Given the description of an element on the screen output the (x, y) to click on. 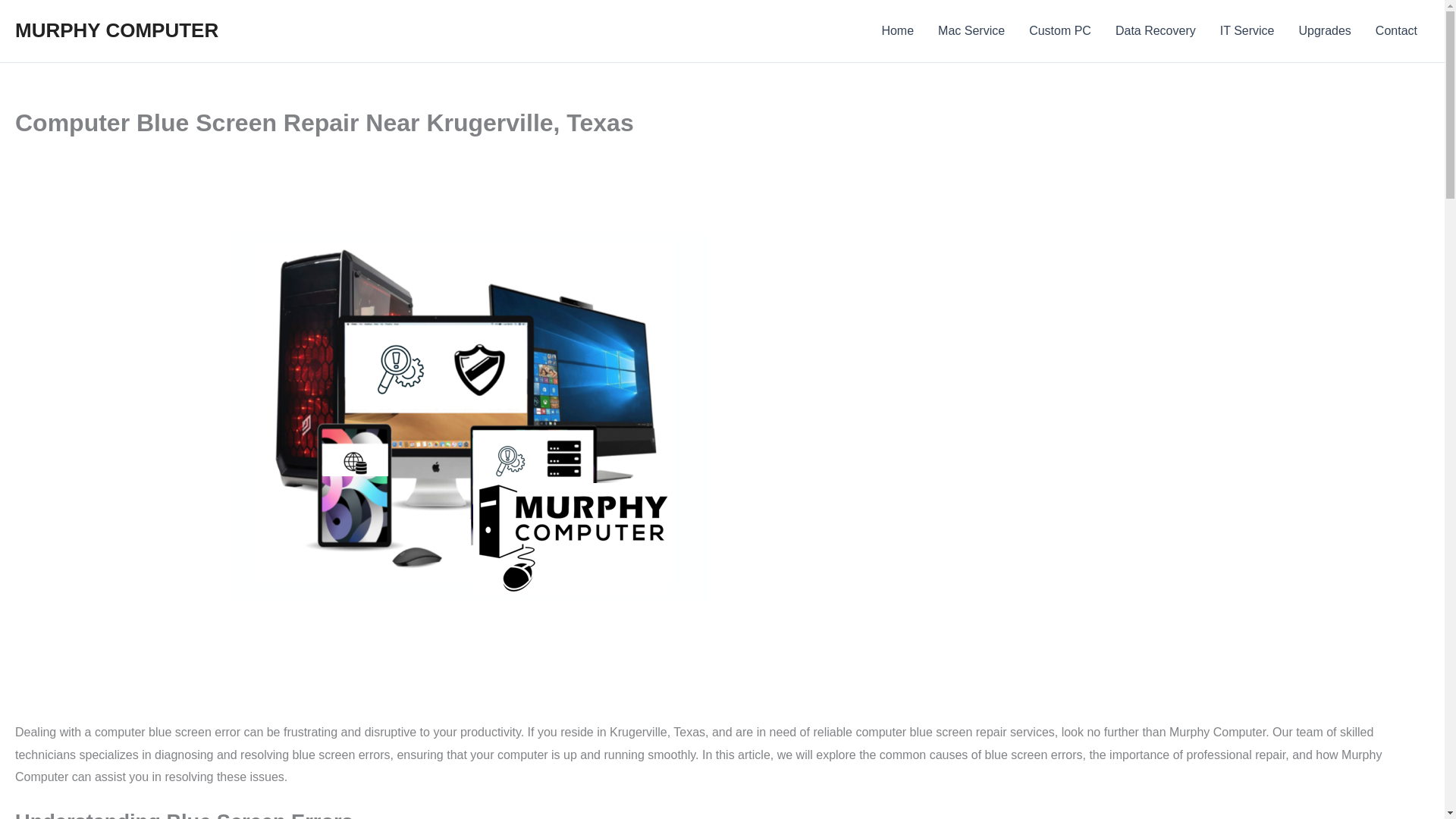
Contact (1395, 31)
IT Service (1247, 31)
Home (897, 31)
MURPHY COMPUTER (116, 29)
Data Recovery (1155, 31)
Custom PC (1059, 31)
Upgrades (1323, 31)
Mac Service (971, 31)
